Given the description of an element on the screen output the (x, y) to click on. 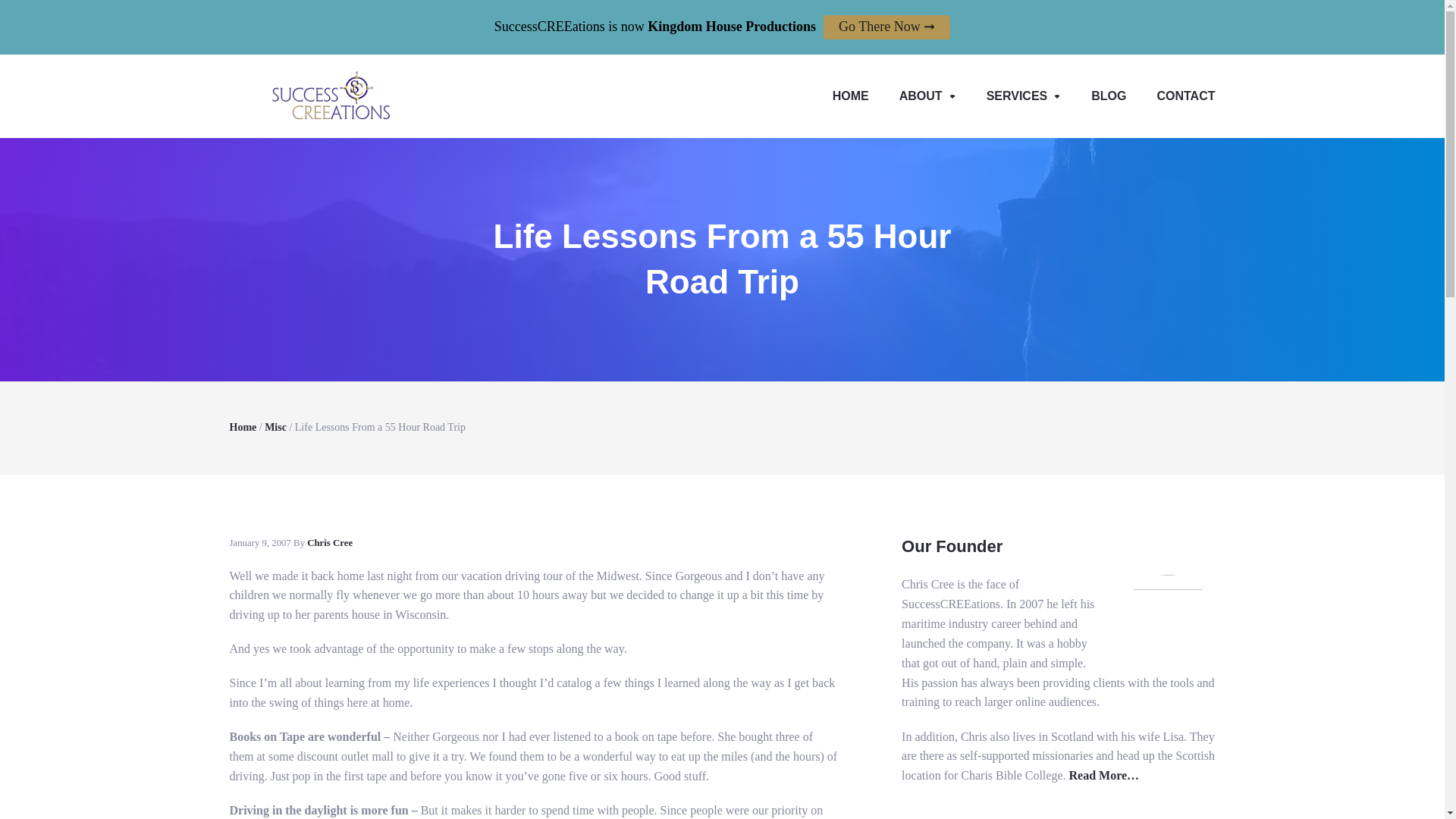
HOME (849, 95)
CONTACT (1177, 95)
ABOUT (927, 95)
Home (242, 427)
BLOG (1108, 95)
Misc (275, 427)
SERVICES (1024, 95)
Chris Cree (329, 542)
